Given the description of an element on the screen output the (x, y) to click on. 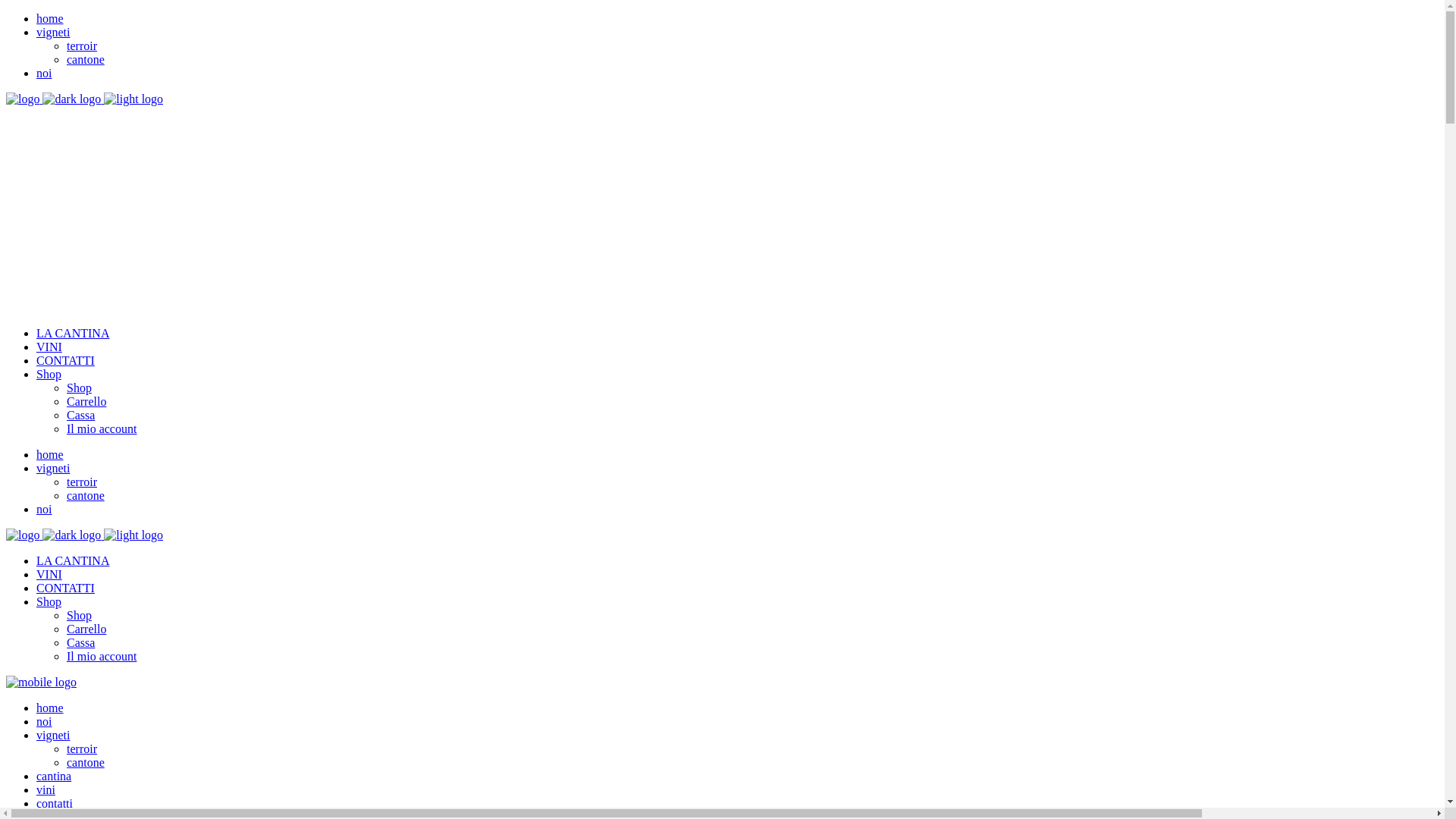
Il mio account Element type: text (101, 428)
cantone Element type: text (85, 59)
home Element type: text (49, 454)
terroir Element type: text (81, 748)
VINI Element type: text (49, 573)
noi Element type: text (43, 72)
terroir Element type: text (81, 45)
terroir Element type: text (81, 481)
CONTATTI Element type: text (65, 587)
home Element type: text (49, 707)
LA CANTINA Element type: text (72, 560)
vigneti Element type: text (52, 467)
vigneti Element type: text (52, 734)
cantina Element type: text (53, 775)
vigneti Element type: text (52, 31)
Cassa Element type: text (80, 414)
Shop Element type: text (48, 373)
vini Element type: text (45, 789)
CONTATTI Element type: text (65, 360)
Shop Element type: text (78, 387)
LA CANTINA Element type: text (72, 332)
Carrello Element type: text (86, 628)
Carrello Element type: text (86, 401)
cantone Element type: text (85, 495)
noi Element type: text (43, 508)
Cassa Element type: text (80, 642)
cantone Element type: text (85, 762)
noi Element type: text (43, 721)
Il mio account Element type: text (101, 655)
VINI Element type: text (49, 346)
Shop Element type: text (48, 601)
contatti Element type: text (54, 803)
Shop Element type: text (78, 614)
home Element type: text (49, 18)
